Given the description of an element on the screen output the (x, y) to click on. 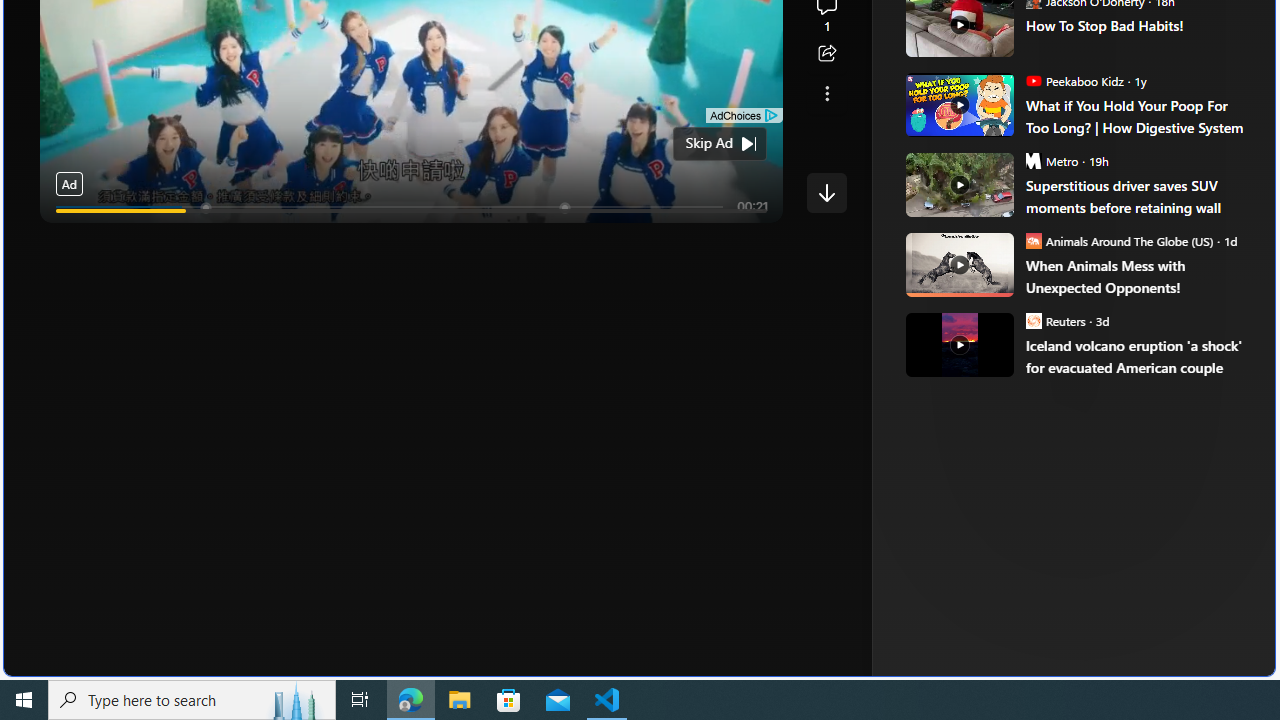
Unmute (757, 235)
Share this story (826, 53)
Animals Around The Globe (US) (1033, 240)
Reuters Reuters (1055, 320)
Skip Ad (708, 143)
Class: control (826, 192)
